Given the description of an element on the screen output the (x, y) to click on. 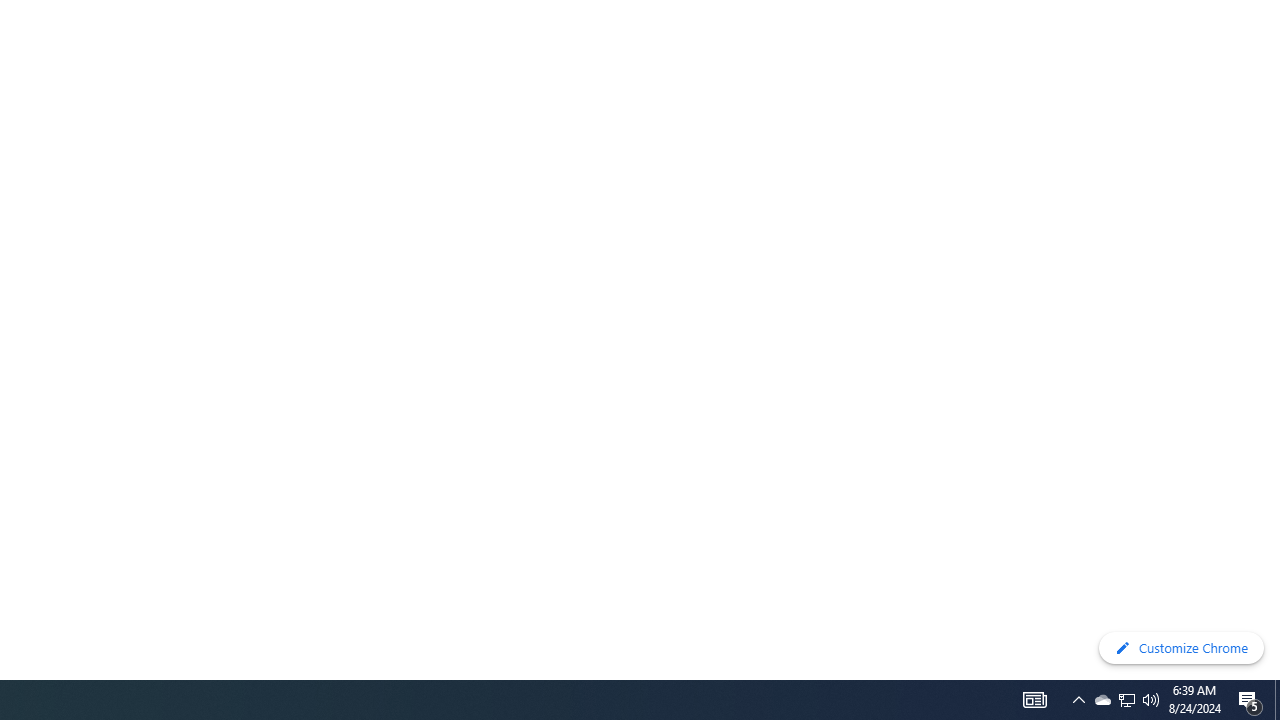
Customize Chrome (1181, 647)
